Given the description of an element on the screen output the (x, y) to click on. 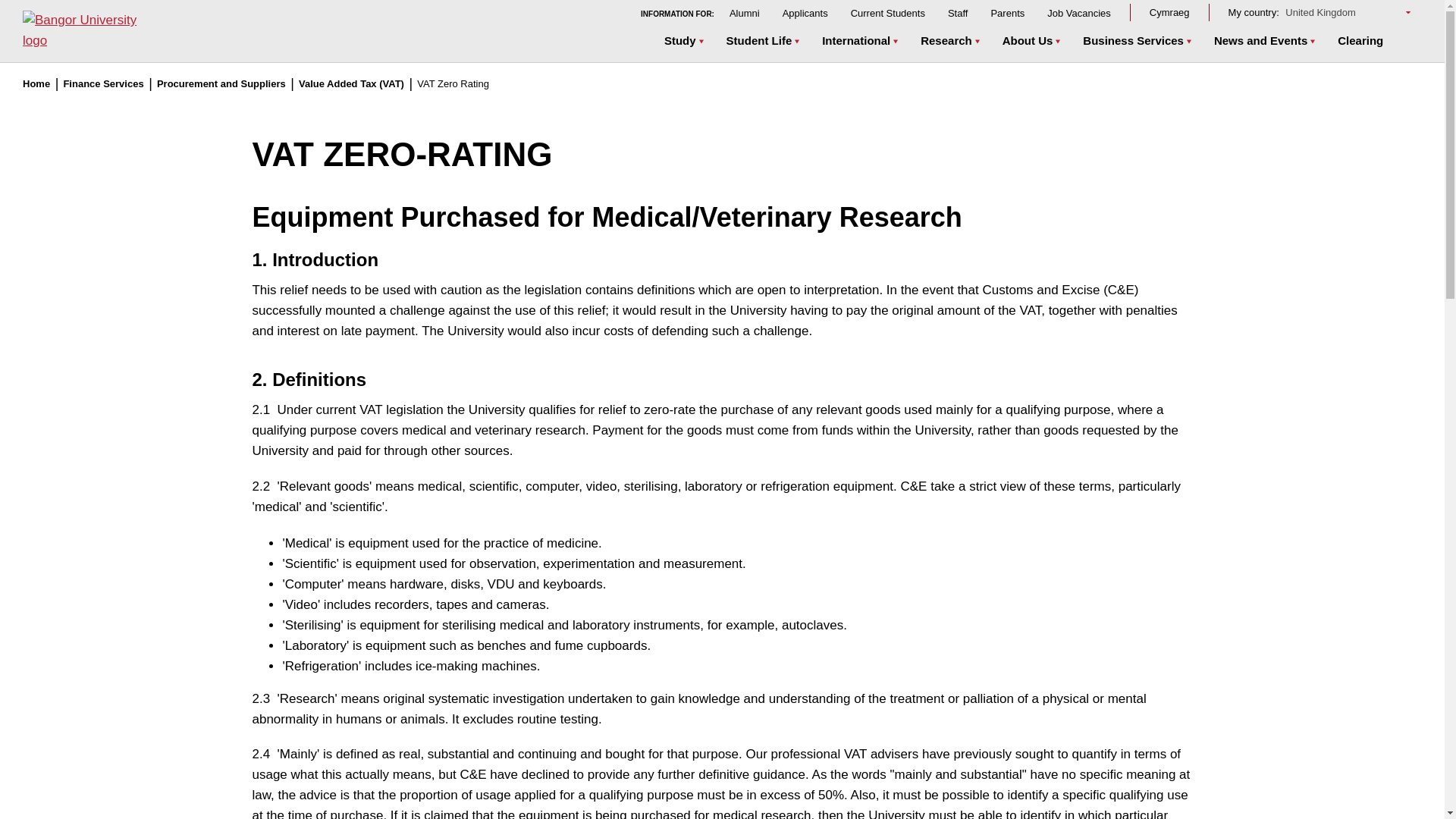
Student Life (759, 41)
Alumni (744, 12)
Job Vacancies (1078, 12)
Parents (1007, 12)
Study (680, 41)
Go to Bangor University Homepage (89, 30)
Staff (957, 12)
Current Students (887, 12)
Applicants (805, 12)
Information for Parents and Guardians (1007, 12)
